Given the description of an element on the screen output the (x, y) to click on. 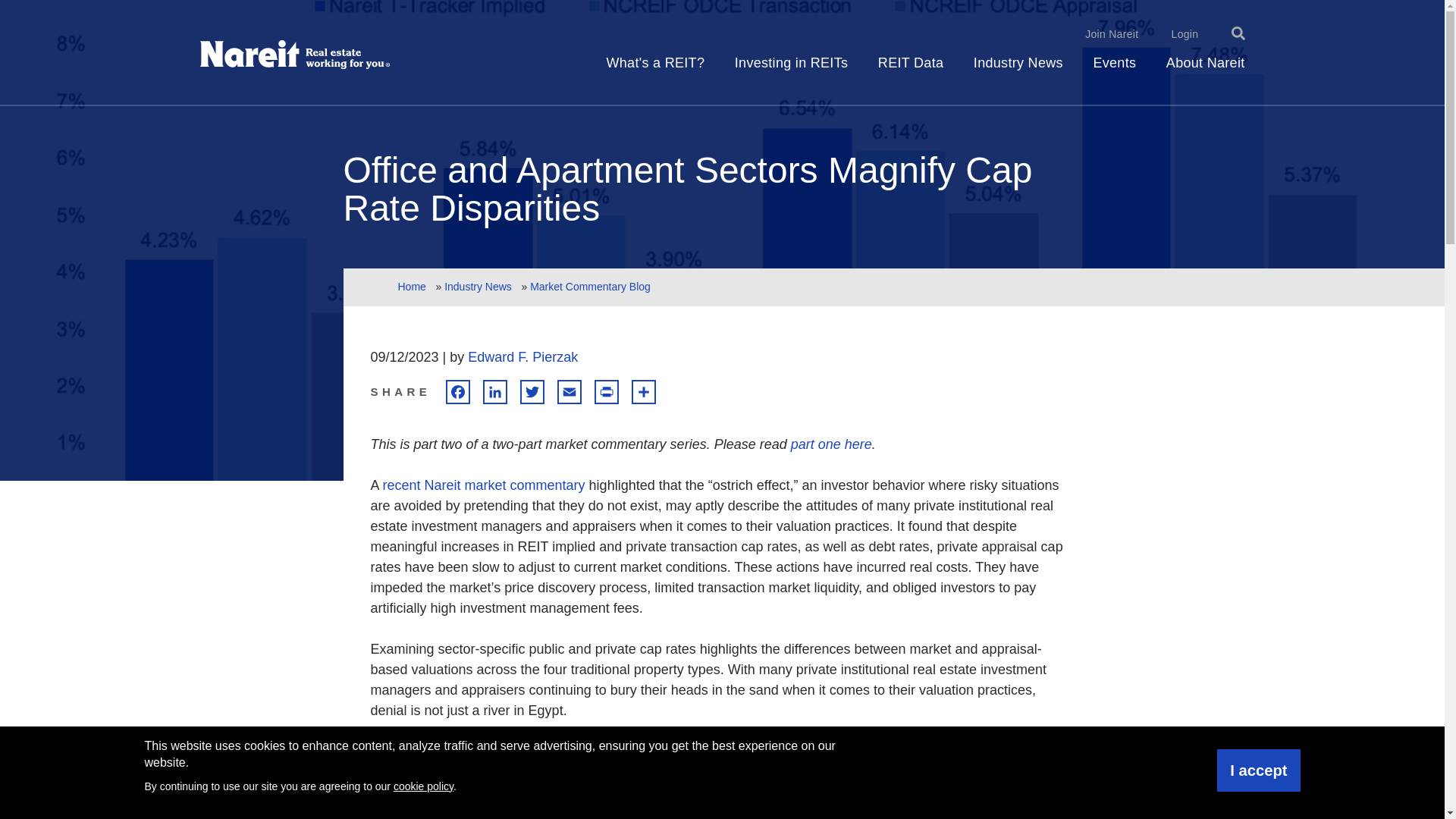
Close (1199, 37)
Close (1225, 28)
Home (295, 54)
Search (1188, 28)
REIT Data (910, 69)
What's a REIT? (655, 69)
Industry News (1018, 69)
Join Nareit (1111, 33)
Log in (1101, 40)
Toggle Search Box (1237, 33)
